Given the description of an element on the screen output the (x, y) to click on. 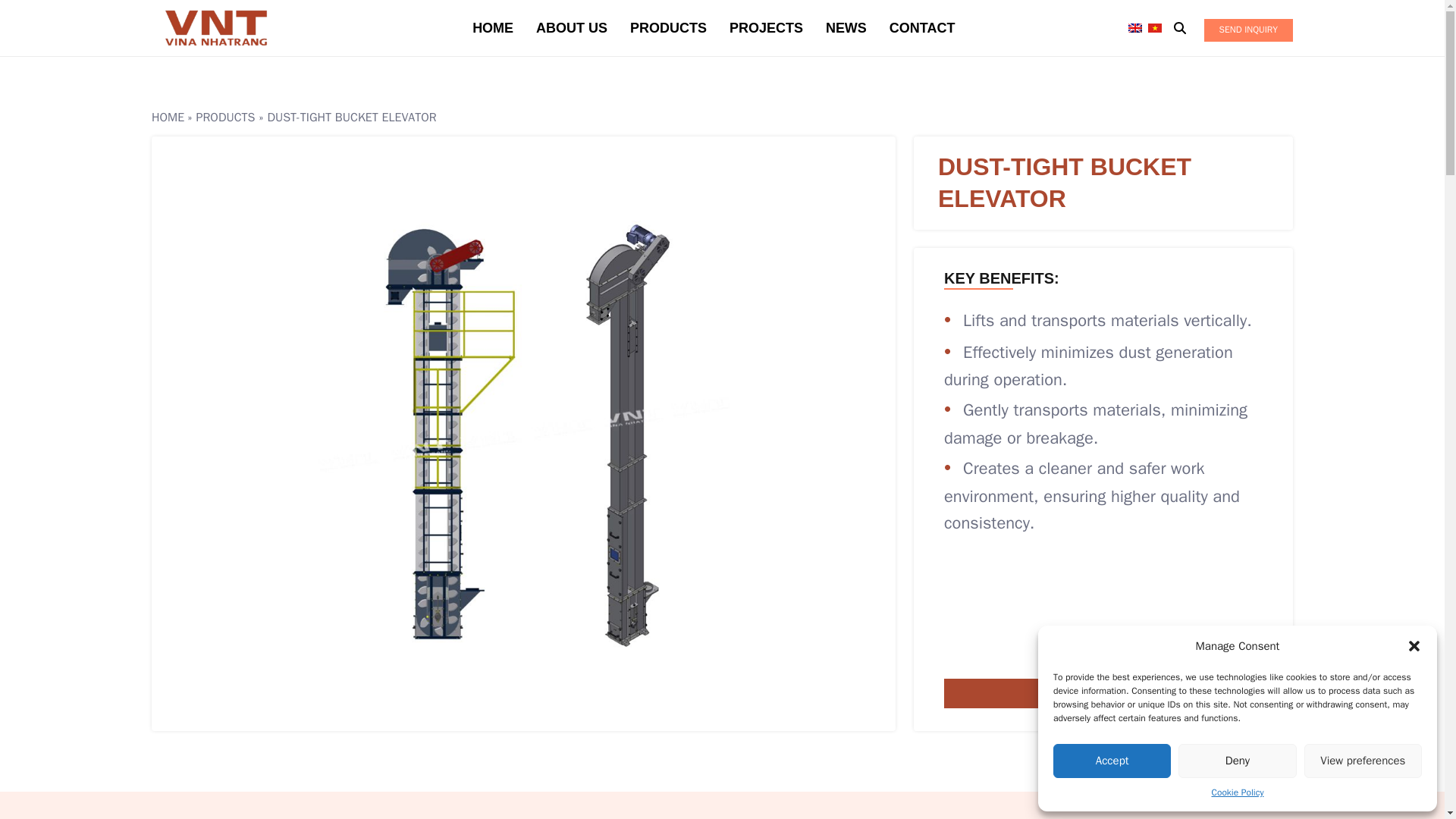
Accept (1111, 760)
Deny (1236, 760)
ABOUT US (571, 28)
PROJECTS (766, 28)
View preferences (1363, 760)
Cookie Policy (1237, 792)
NEWS (845, 28)
HOME (492, 28)
PRODUCTS (668, 28)
